Given the description of an element on the screen output the (x, y) to click on. 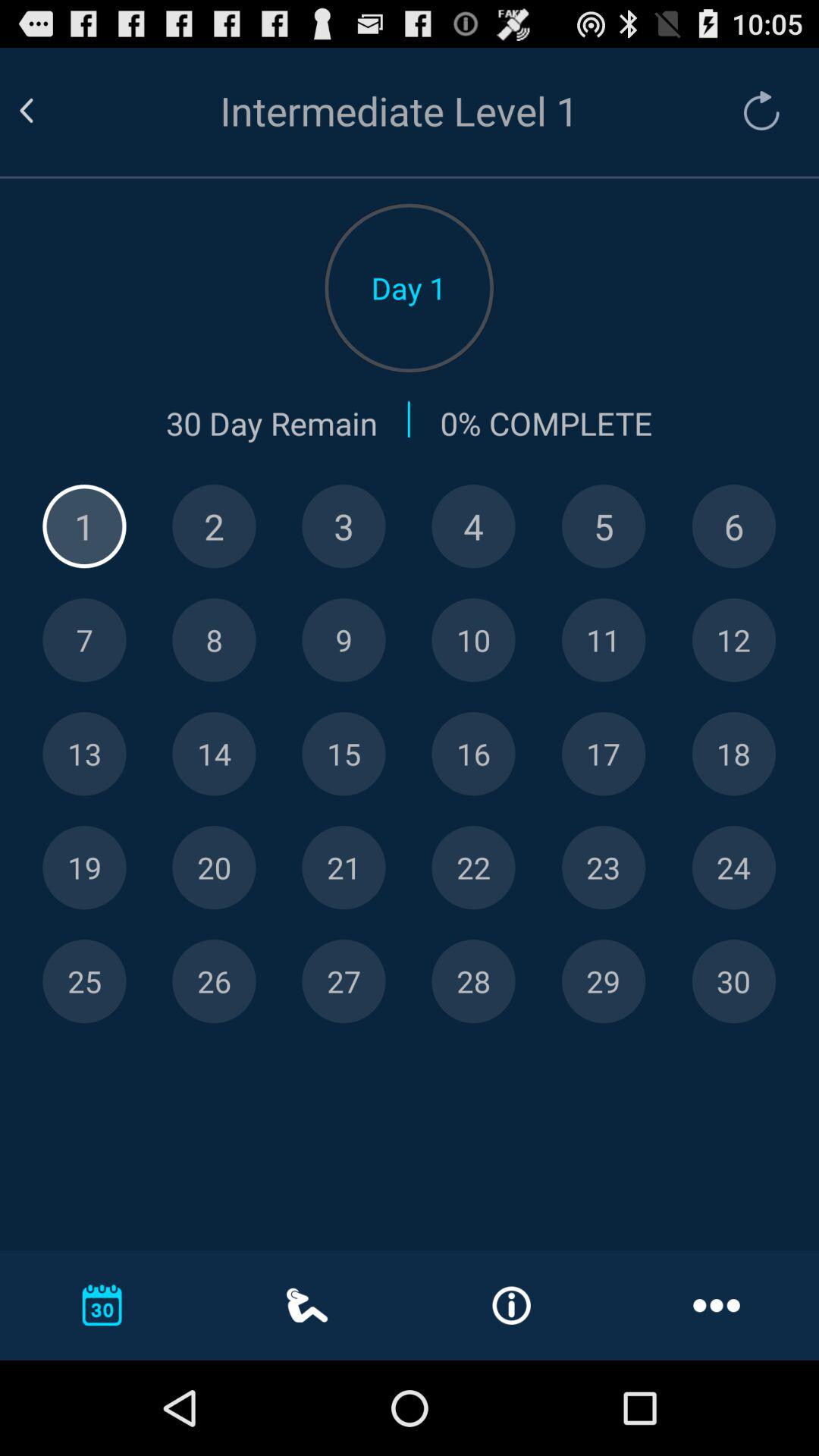
select day 17 (603, 753)
